Given the description of an element on the screen output the (x, y) to click on. 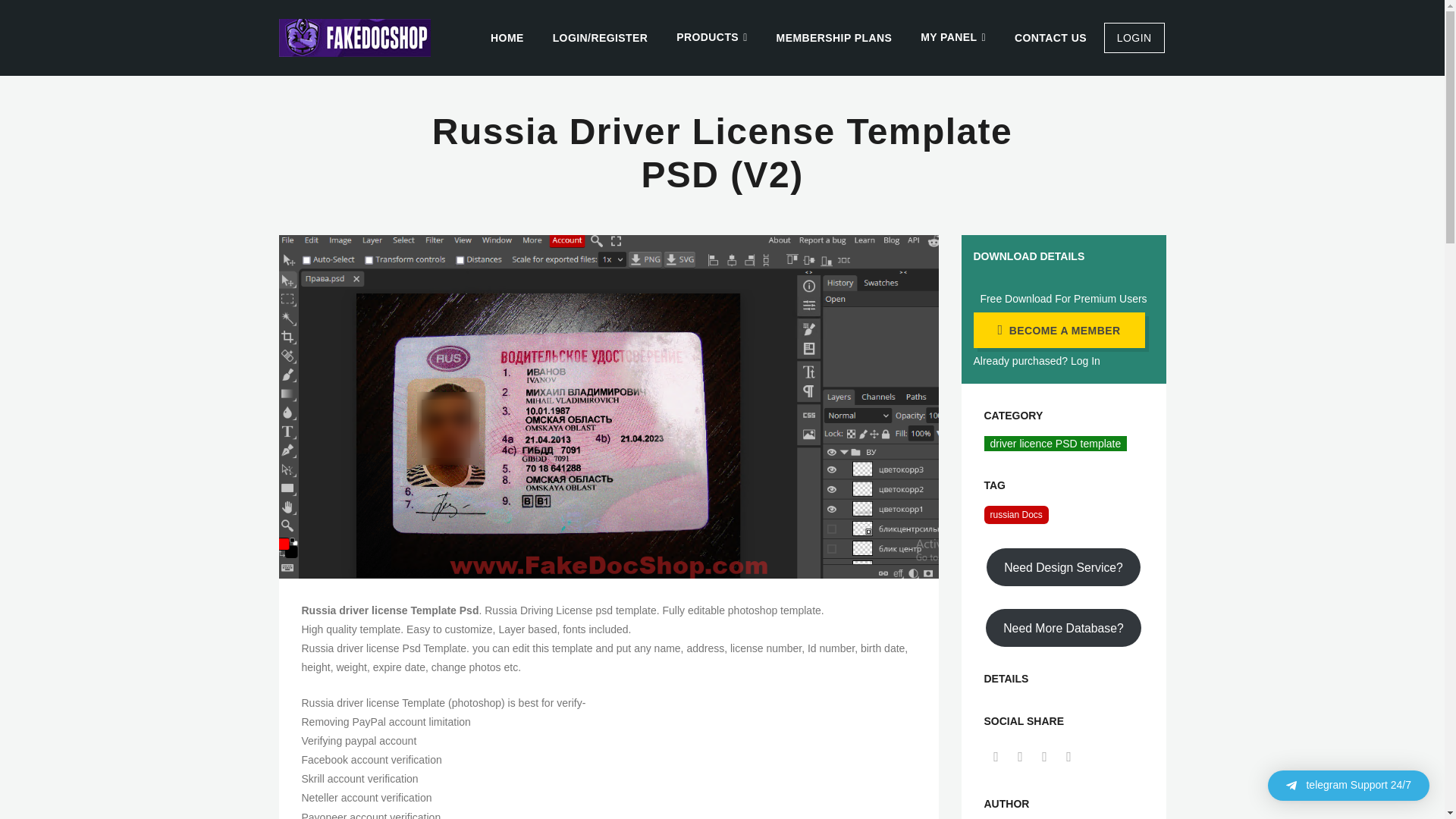
MY PANEL (952, 38)
HOME (507, 38)
PRODUCTS (711, 38)
MEMBERSHIP PLANS (834, 38)
